Given the description of an element on the screen output the (x, y) to click on. 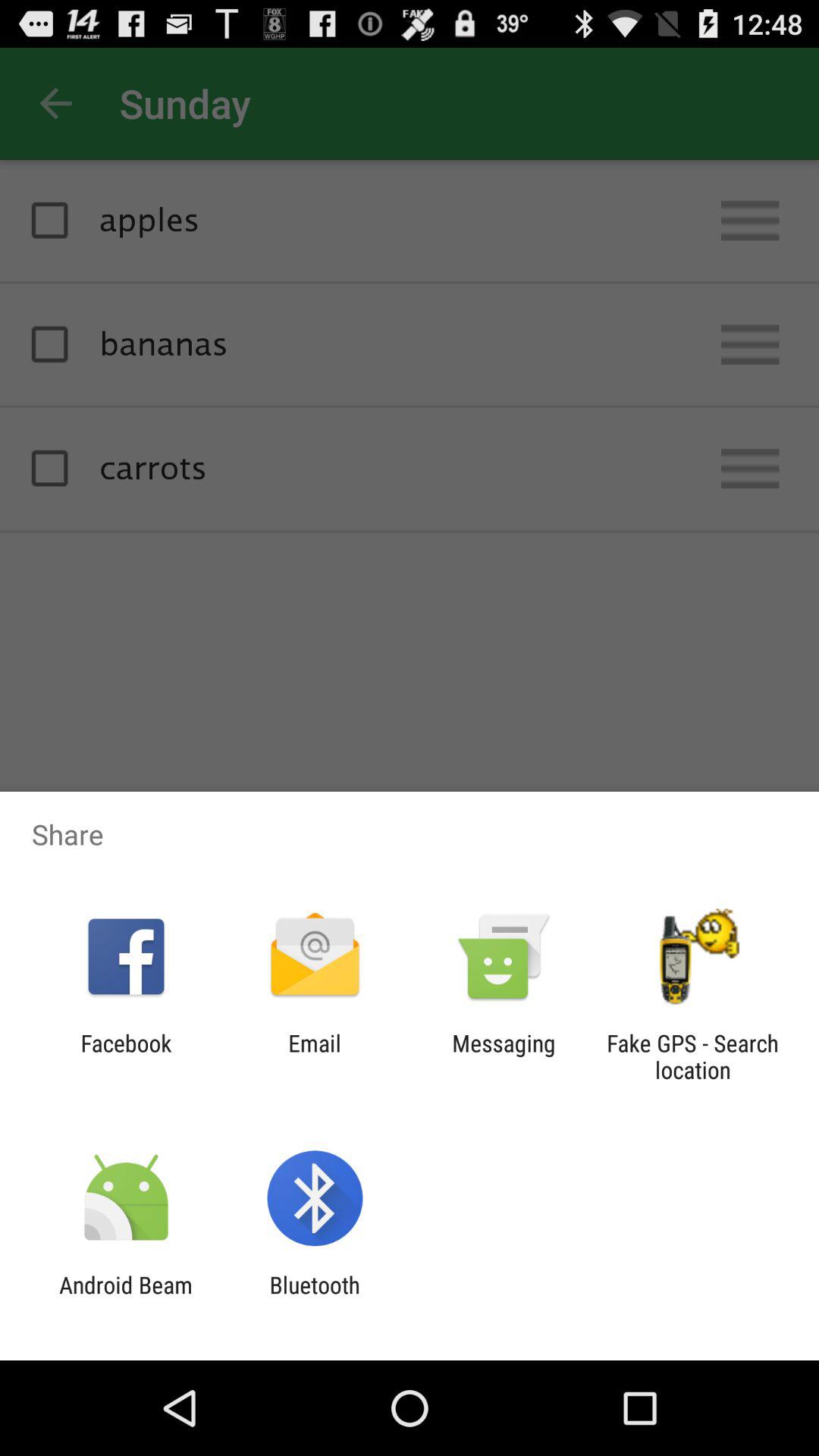
swipe to fake gps search app (692, 1056)
